Given the description of an element on the screen output the (x, y) to click on. 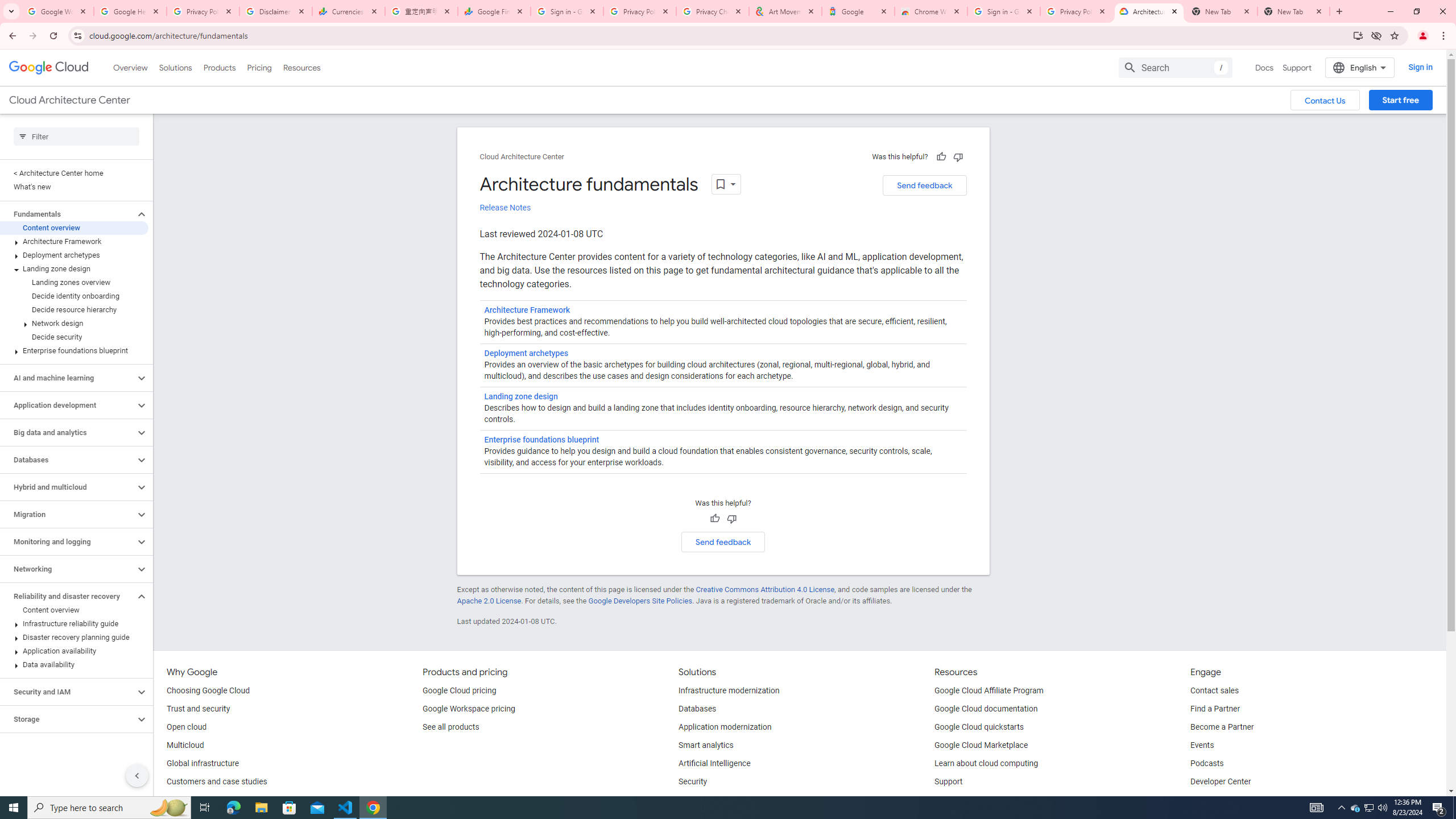
Databases (697, 709)
Open dropdown (726, 183)
Productivity & work transformation (739, 800)
See all products (450, 727)
Become a Partner (1222, 727)
Send feedback (723, 541)
Docs, selected (1264, 67)
Fundamentals (67, 214)
Enterprise foundations blueprint (541, 439)
Cloud Architecture Center (521, 156)
Google (857, 11)
Developer Center (1220, 782)
Currencies - Google Finance (348, 11)
